Given the description of an element on the screen output the (x, y) to click on. 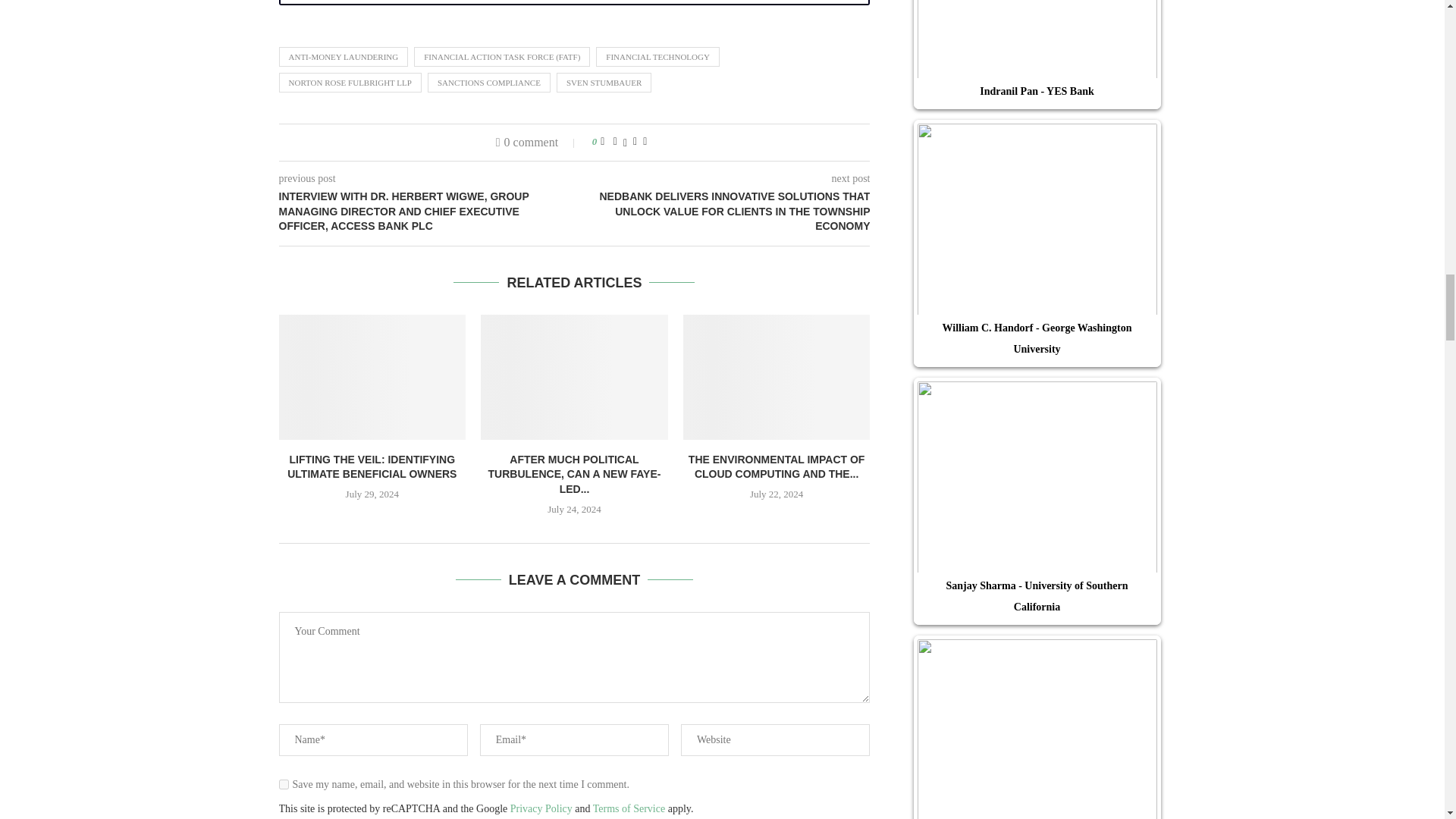
yes (283, 784)
NORTON ROSE FULBRIGHT LLP (350, 82)
FINANCIAL TECHNOLOGY (657, 56)
Lifting the Veil: Identifying Ultimate Beneficial Owners (372, 376)
ANTI-MONEY LAUNDERING (344, 56)
SANCTIONS COMPLIANCE (489, 82)
SVEN STUMBAUER (603, 82)
